Given the description of an element on the screen output the (x, y) to click on. 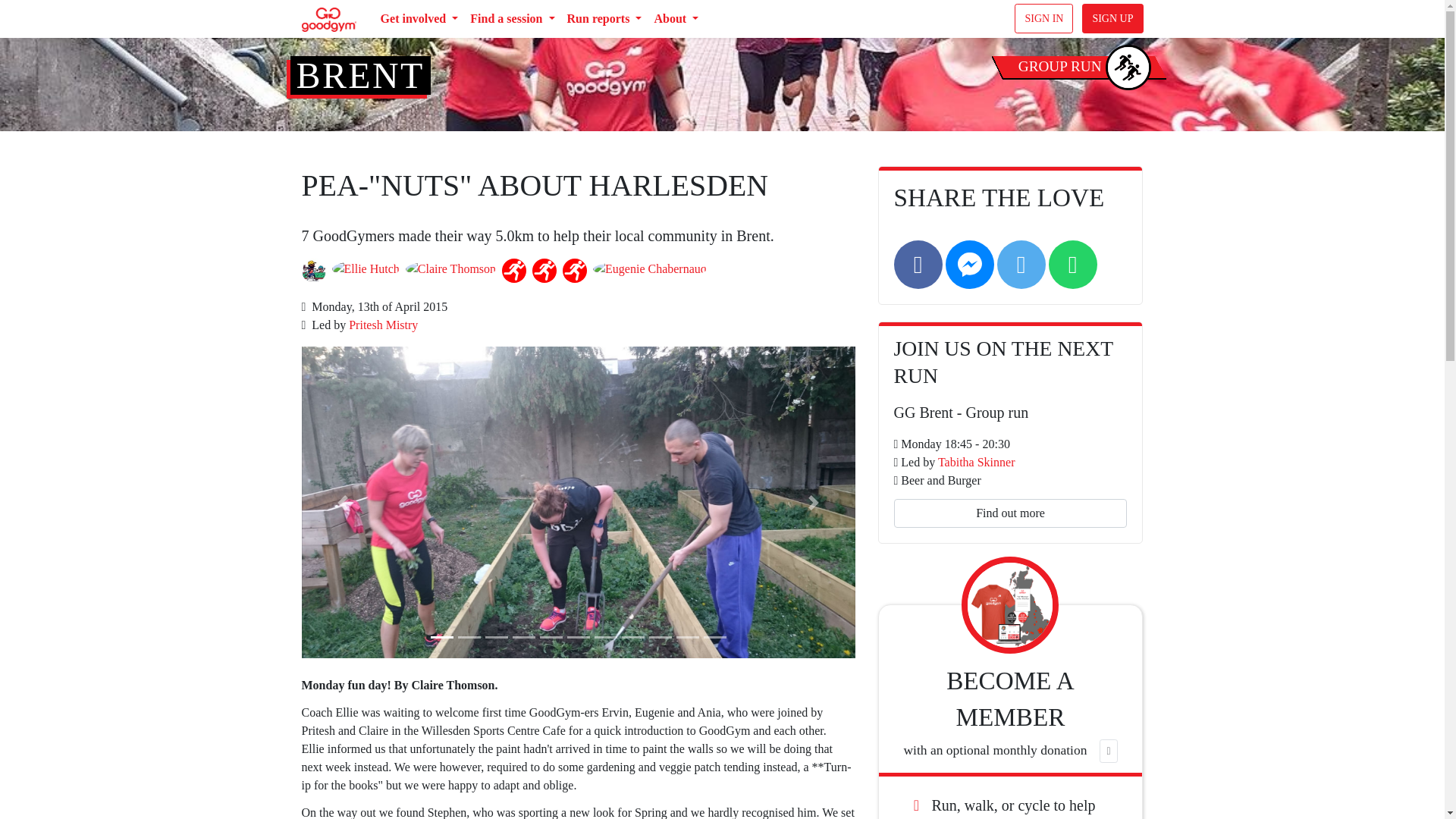
Run reports (603, 19)
Find a session (512, 19)
SIGN IN (1043, 18)
Messenger (968, 264)
Get involved (419, 19)
SIGN UP (1111, 18)
BRENT (359, 75)
About (675, 19)
